Given the description of an element on the screen output the (x, y) to click on. 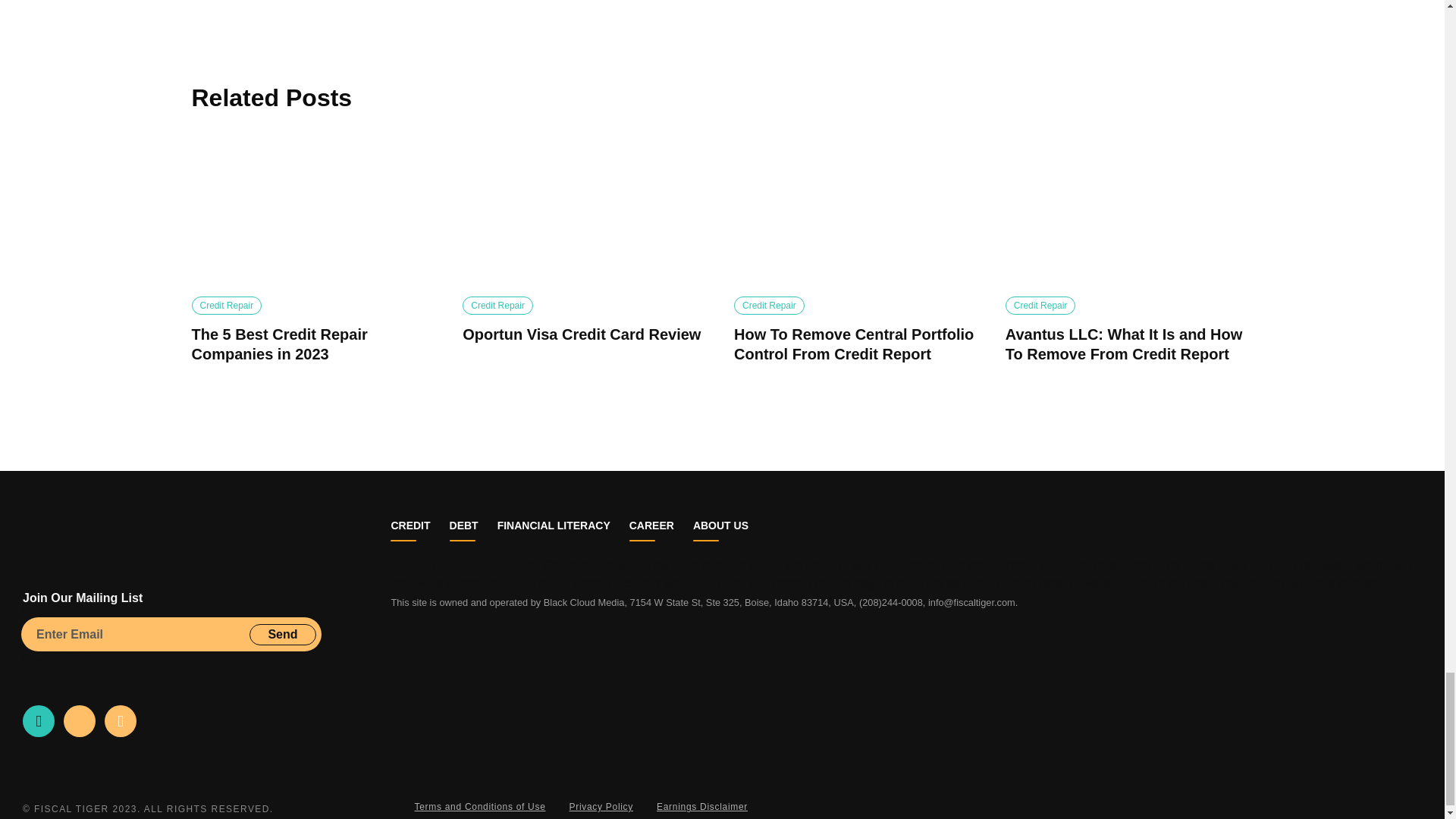
Avantus LLC: What It Is and How To Remove From Credit Report (1129, 213)
Oportun Visa Credit Card Review (586, 213)
How To Remove Central Portfolio Control From Credit Report (857, 213)
The 5 Best Credit Repair Companies in 2023 (314, 213)
